Given the description of an element on the screen output the (x, y) to click on. 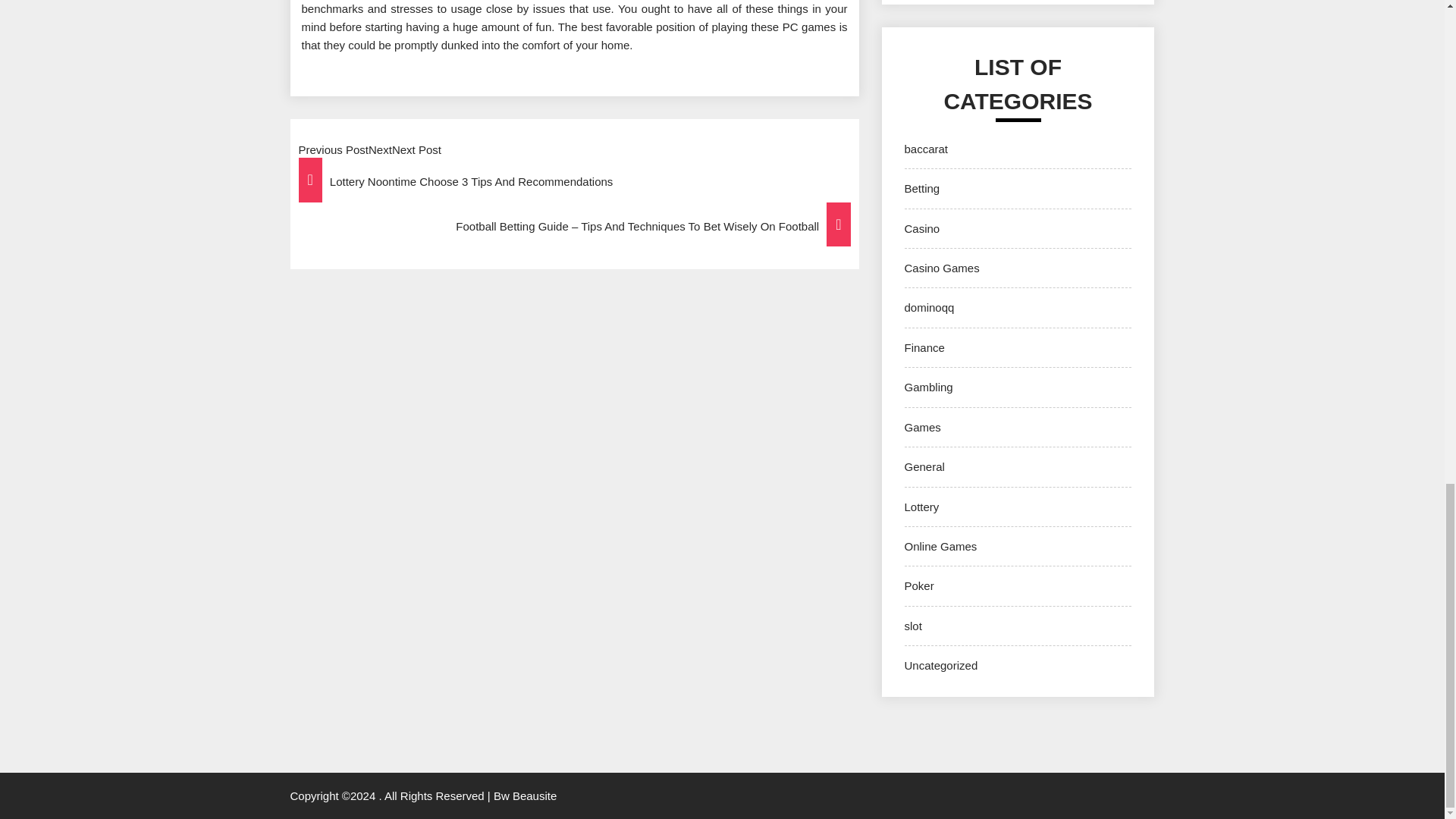
dominoqq (928, 307)
baccarat (925, 148)
General (923, 466)
Uncategorized (940, 665)
Lottery (921, 506)
Gambling (928, 386)
Casino (921, 228)
Finance (923, 347)
Casino Games (941, 267)
slot (912, 625)
